Given the description of an element on the screen output the (x, y) to click on. 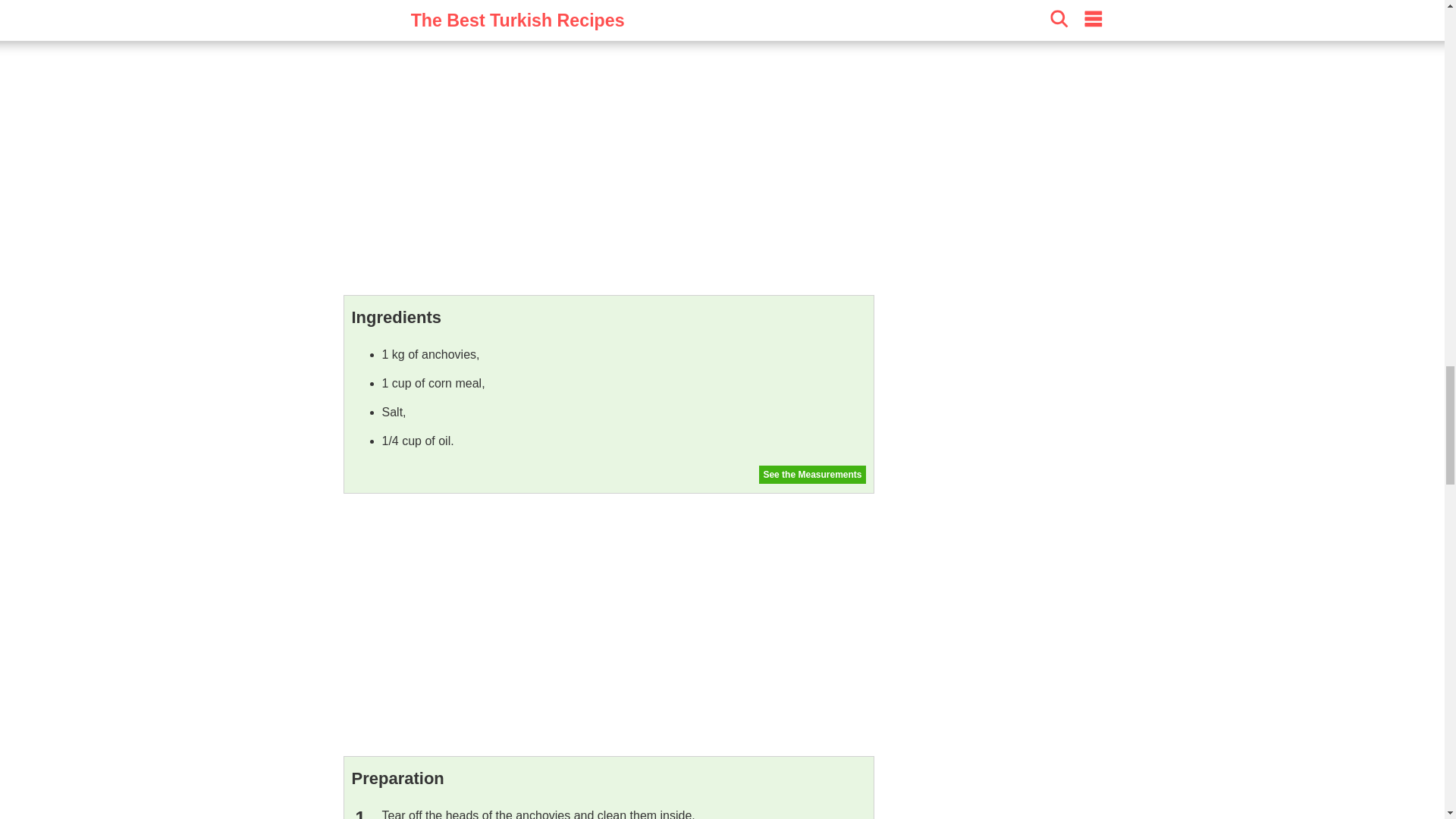
See the Measurements (811, 475)
